Given the description of an element on the screen output the (x, y) to click on. 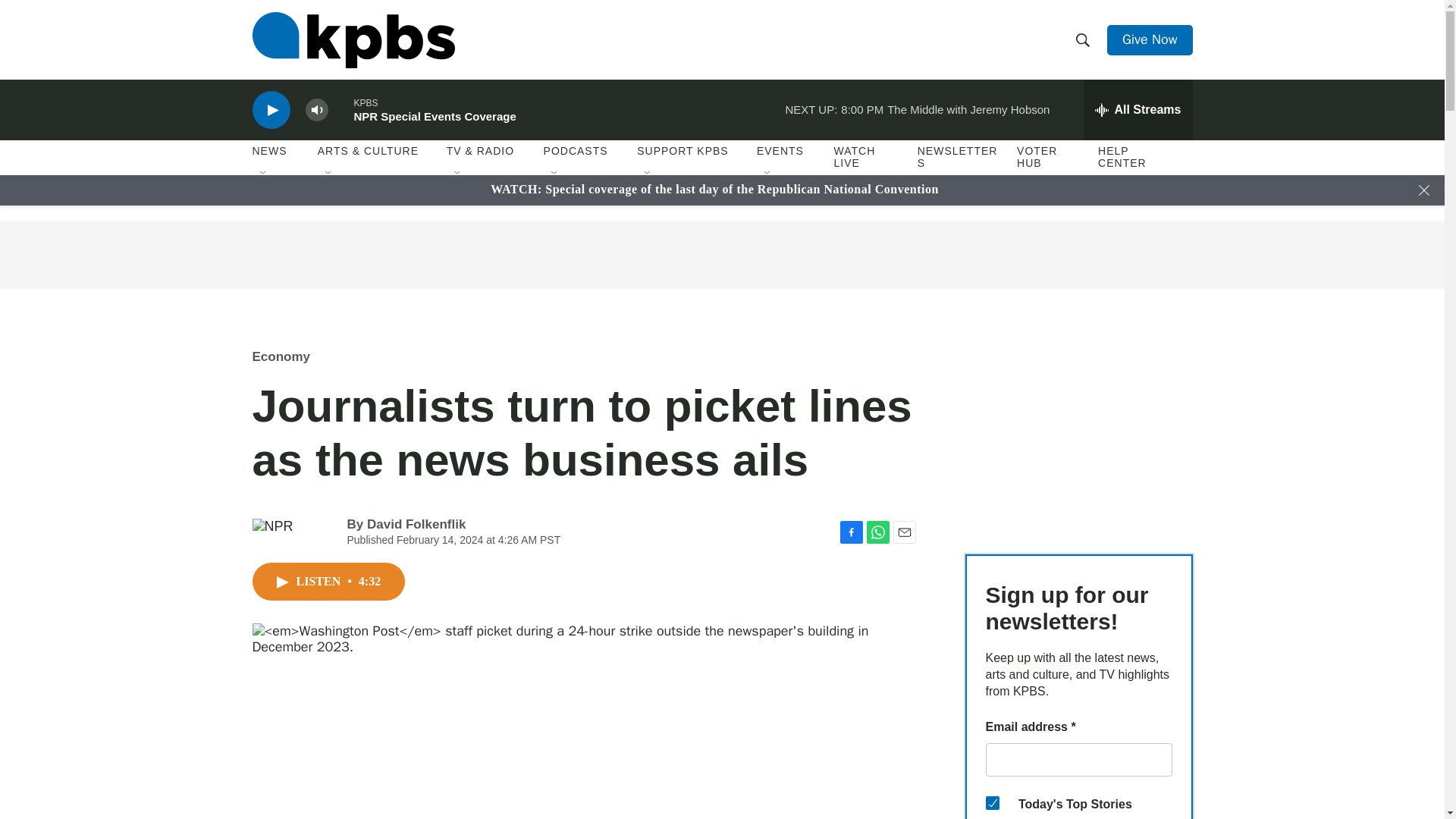
3rd party ad content (1077, 429)
4 (991, 802)
3rd party ad content (721, 254)
